Given the description of an element on the screen output the (x, y) to click on. 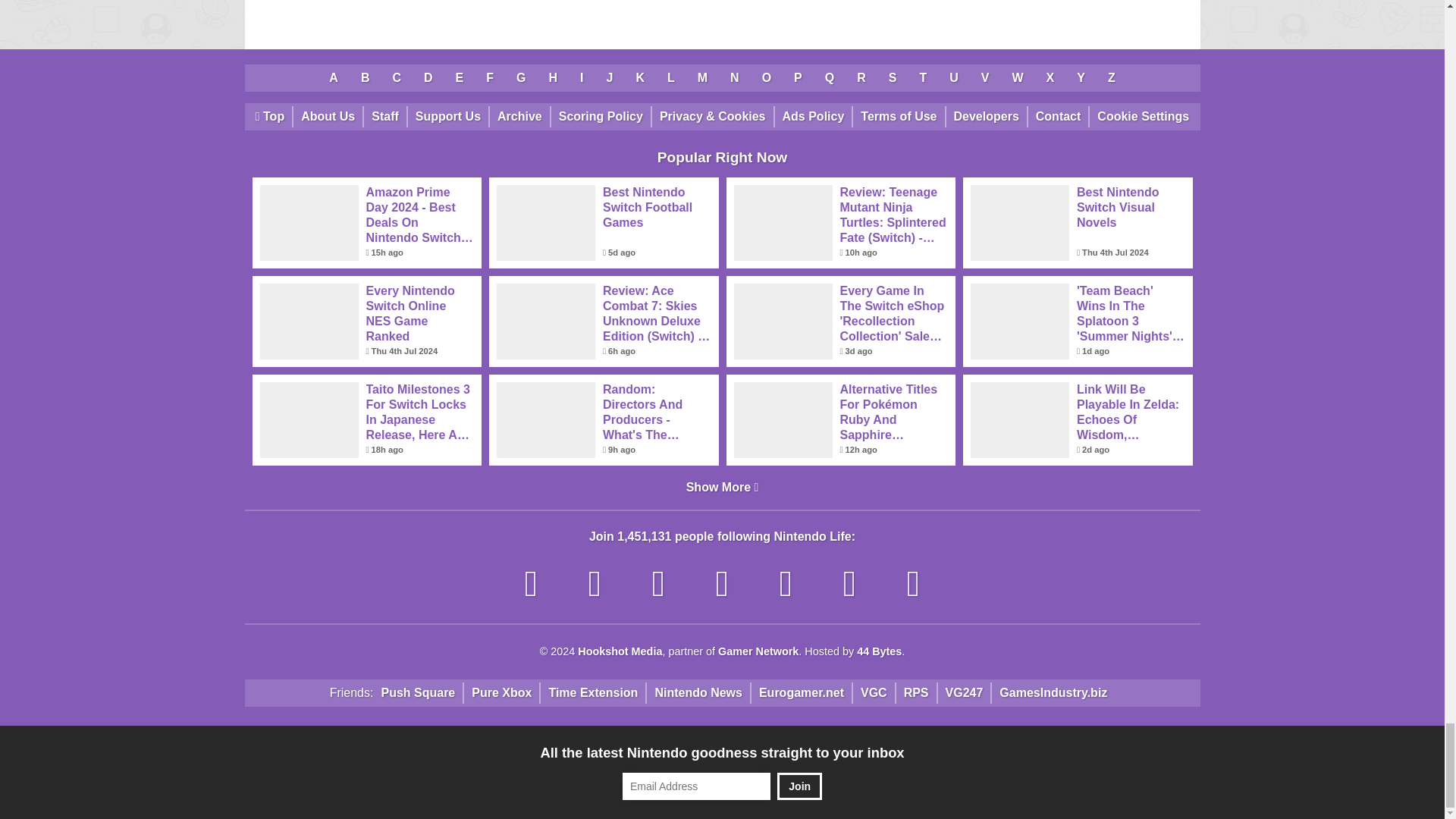
Join (799, 786)
